Given the description of an element on the screen output the (x, y) to click on. 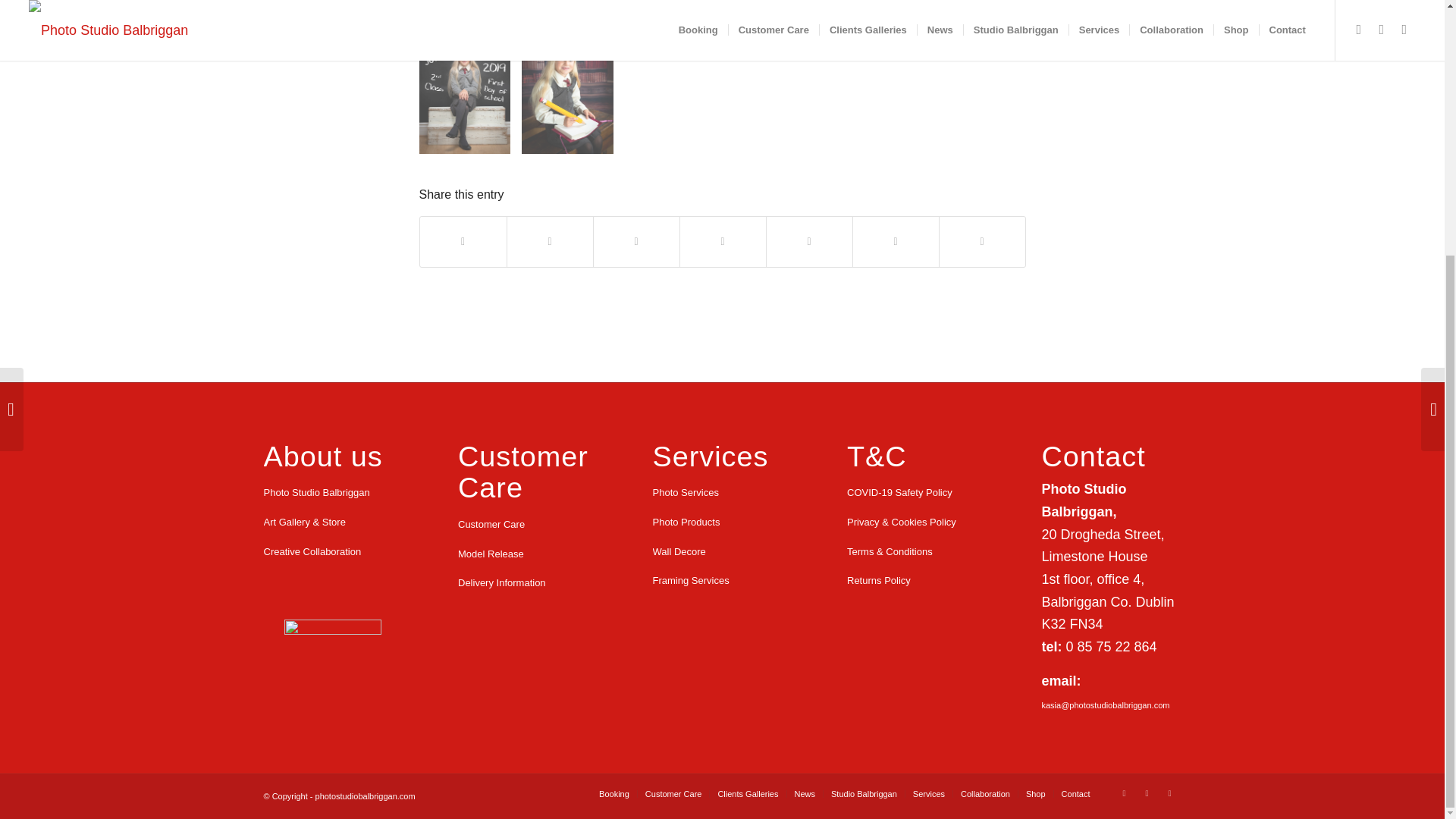
Framing Services (722, 581)
Photo Studio Balbriggan (333, 492)
Delivery Information (527, 583)
Model Release (527, 554)
Wall Decore (722, 552)
Creative Collaboration (333, 552)
Photo Products (722, 522)
Photo Services (722, 492)
Customer Care (527, 524)
COVID-19 Safety Policy (917, 492)
